Given the description of an element on the screen output the (x, y) to click on. 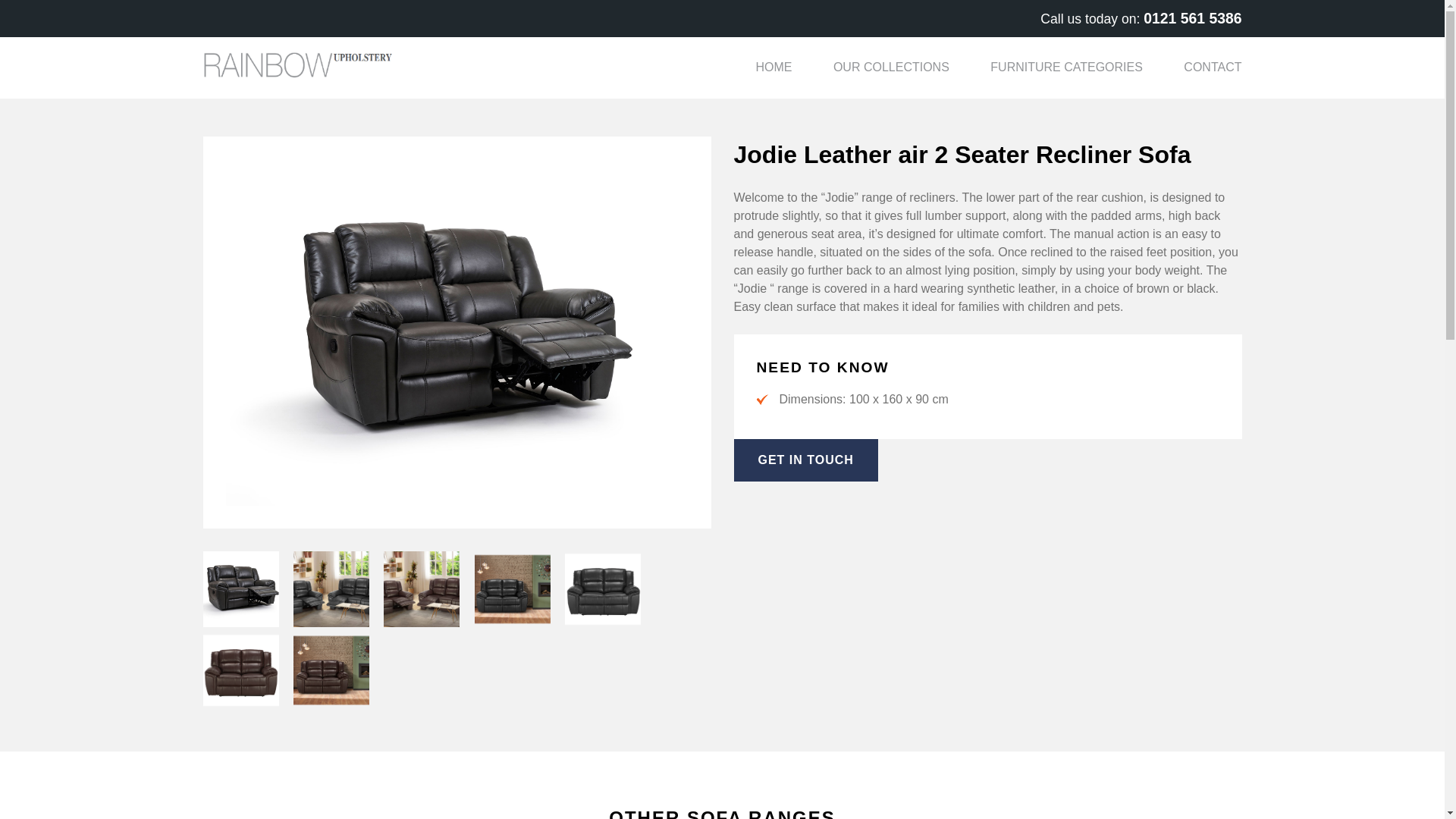
FURNITURE CATEGORIES (1066, 67)
GET IN TOUCH (805, 459)
CONTACT (1212, 67)
0121 561 5386 (1191, 17)
HOME (773, 67)
OUR COLLECTIONS (890, 67)
